Given the description of an element on the screen output the (x, y) to click on. 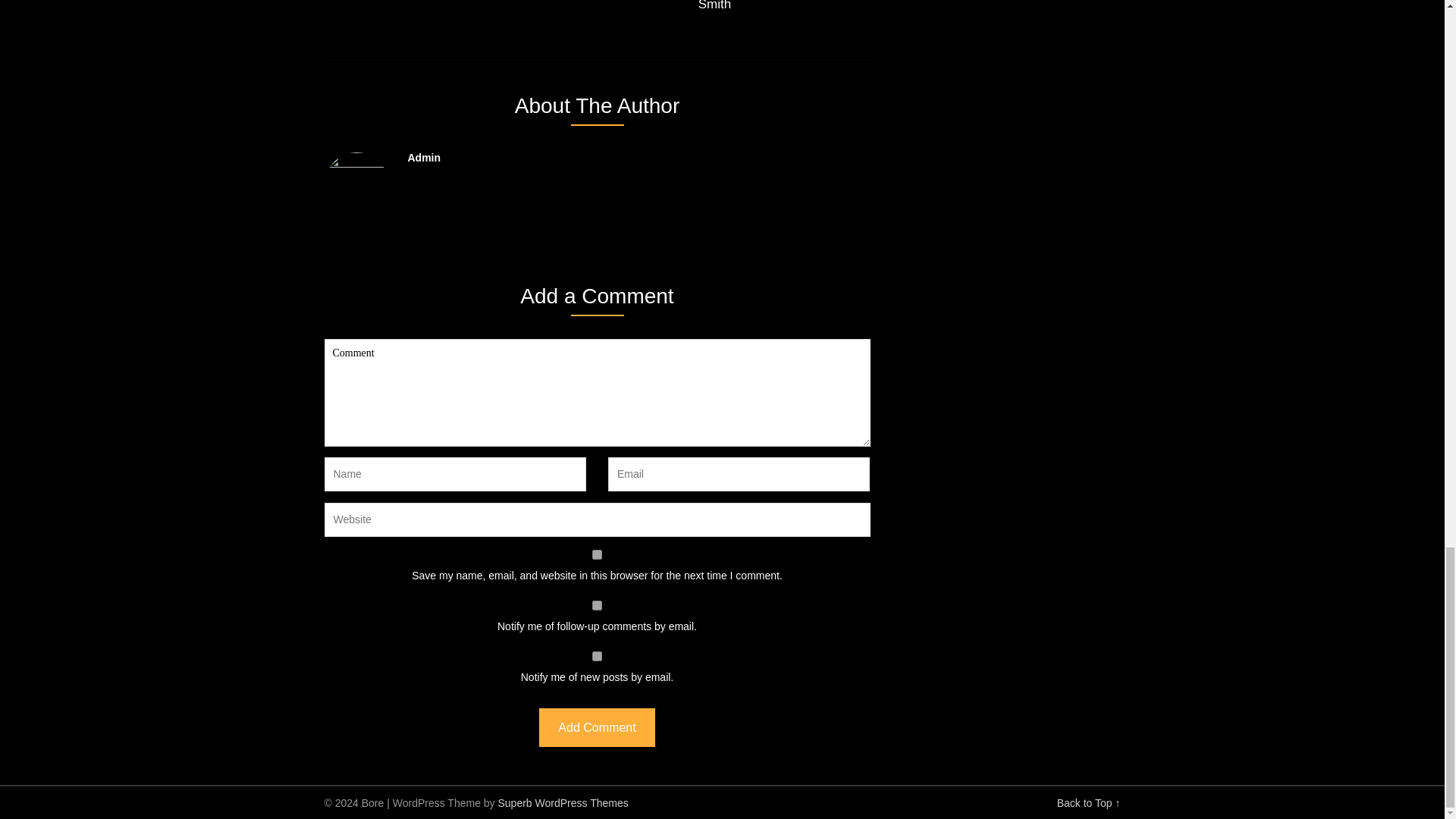
subscribe (597, 605)
subscribe (597, 655)
Add Comment (595, 727)
yes (597, 554)
